Given the description of an element on the screen output the (x, y) to click on. 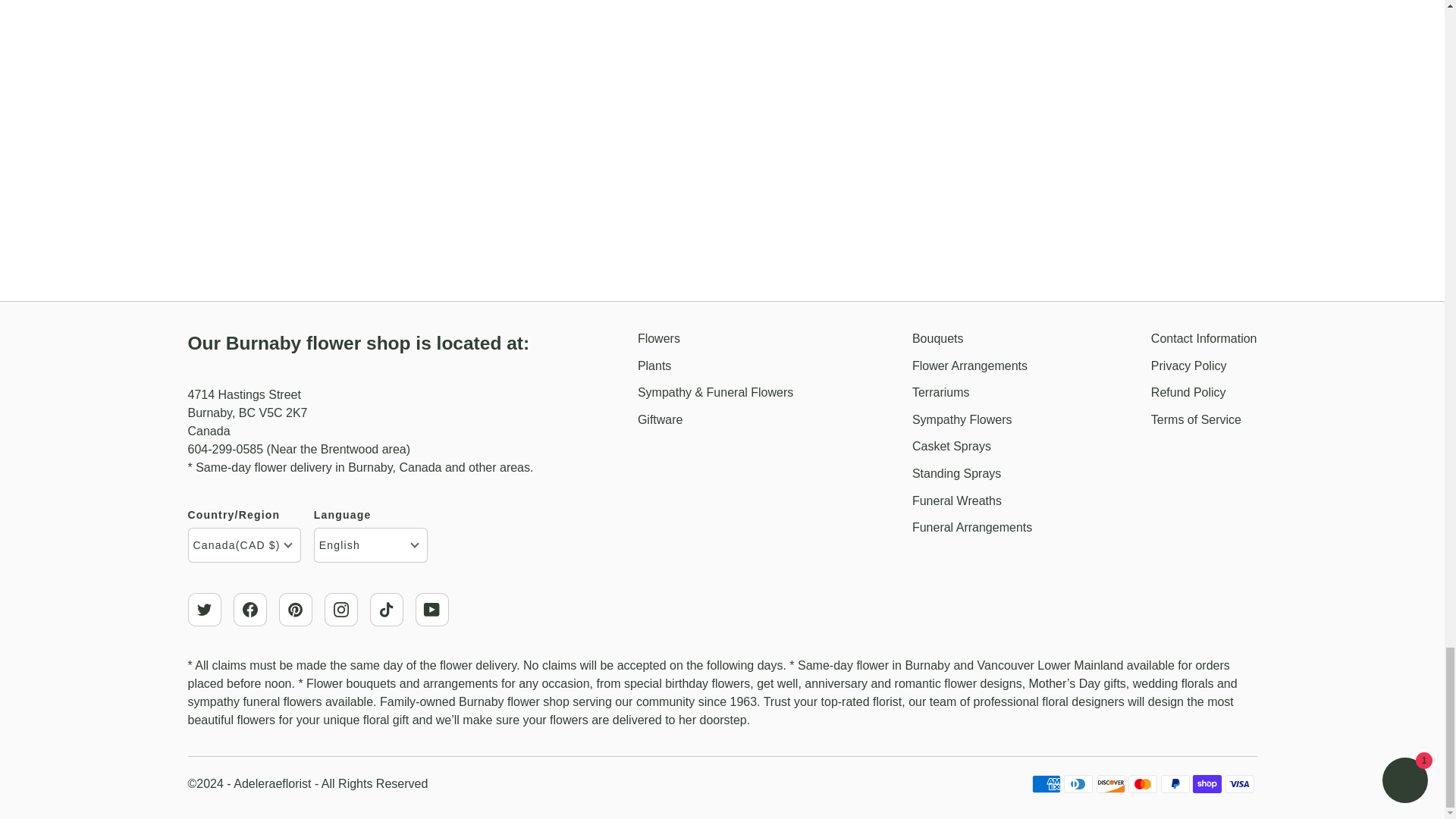
PayPal (1174, 783)
Diners Club (1078, 783)
Visa (1239, 783)
American Express (1046, 783)
Discover (1110, 783)
Shop Pay (1206, 783)
Mastercard (1142, 783)
